Given the description of an element on the screen output the (x, y) to click on. 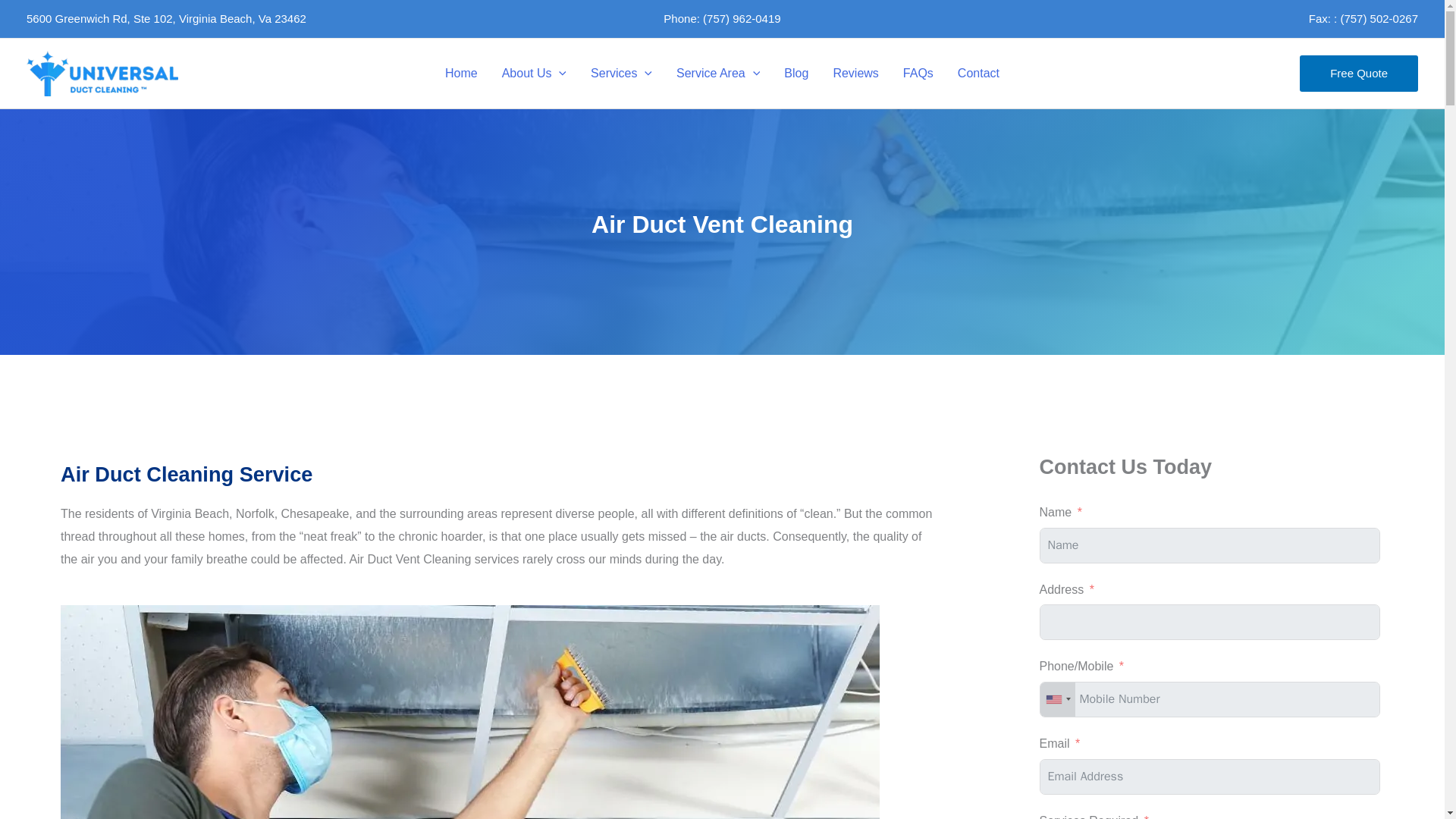
Home (460, 72)
Reviews (855, 72)
About Us (533, 72)
Free Quote (1359, 73)
FAQs (917, 72)
Services (620, 72)
Service Area (717, 72)
Contact (977, 72)
Blog (796, 72)
